Given the description of an element on the screen output the (x, y) to click on. 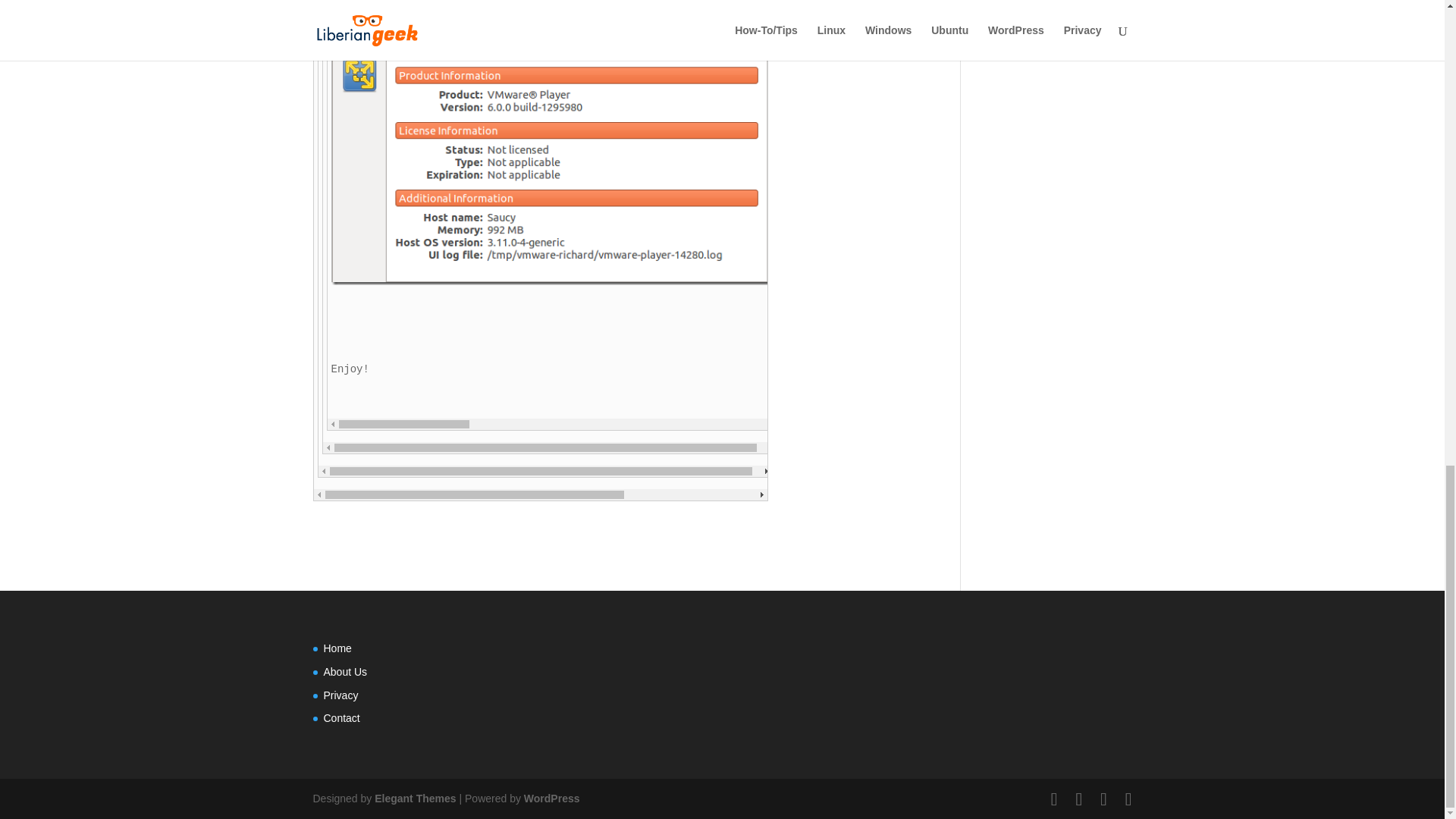
Contact (341, 717)
WordPress (551, 798)
Premium WordPress Themes (414, 798)
Elegant Themes (414, 798)
Privacy (340, 695)
About Us (344, 671)
ubuntu-vmware-tools-1 (553, 155)
Home (336, 648)
